Given the description of an element on the screen output the (x, y) to click on. 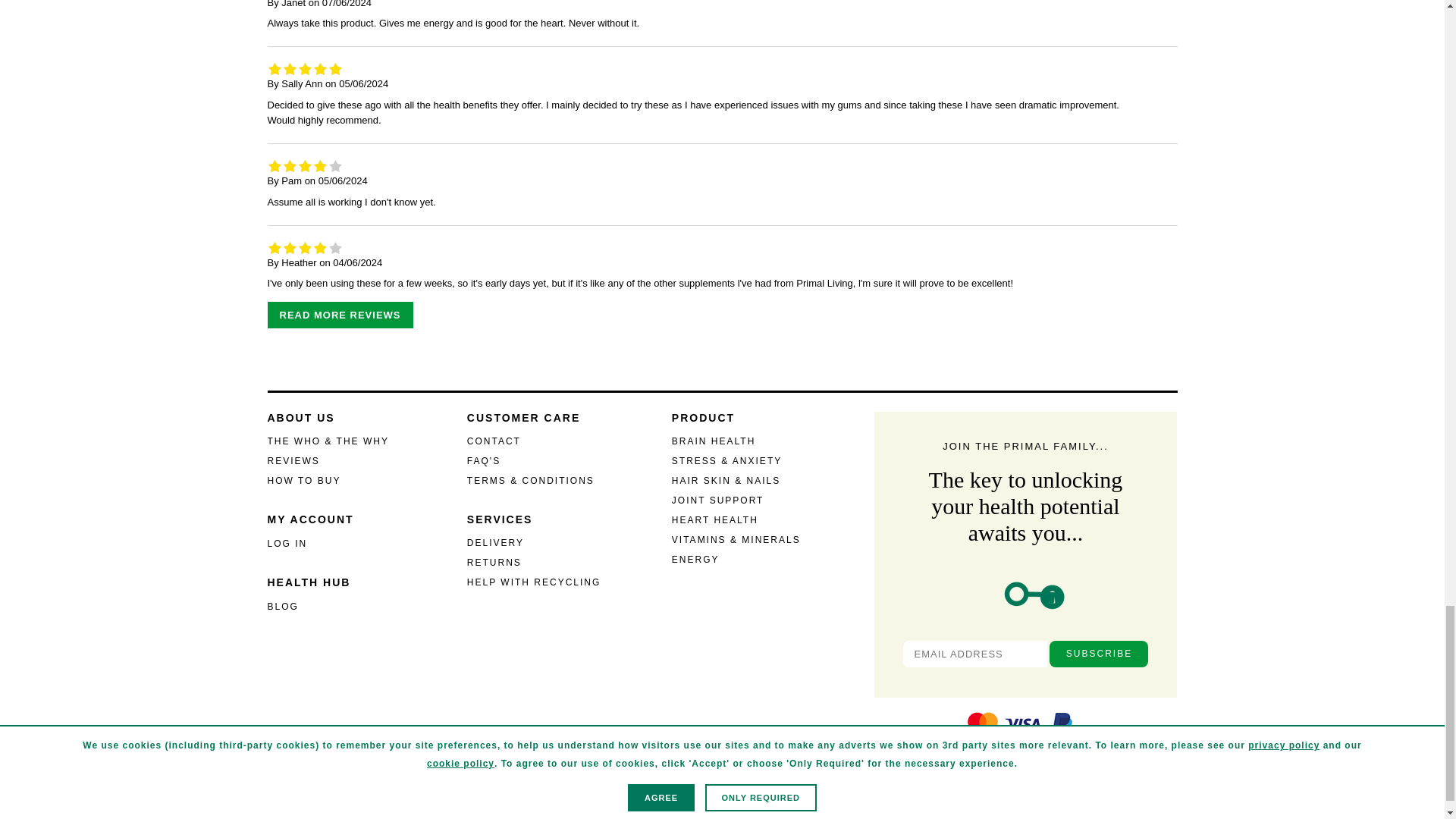
How PayPal Works (1062, 739)
